Given the description of an element on the screen output the (x, y) to click on. 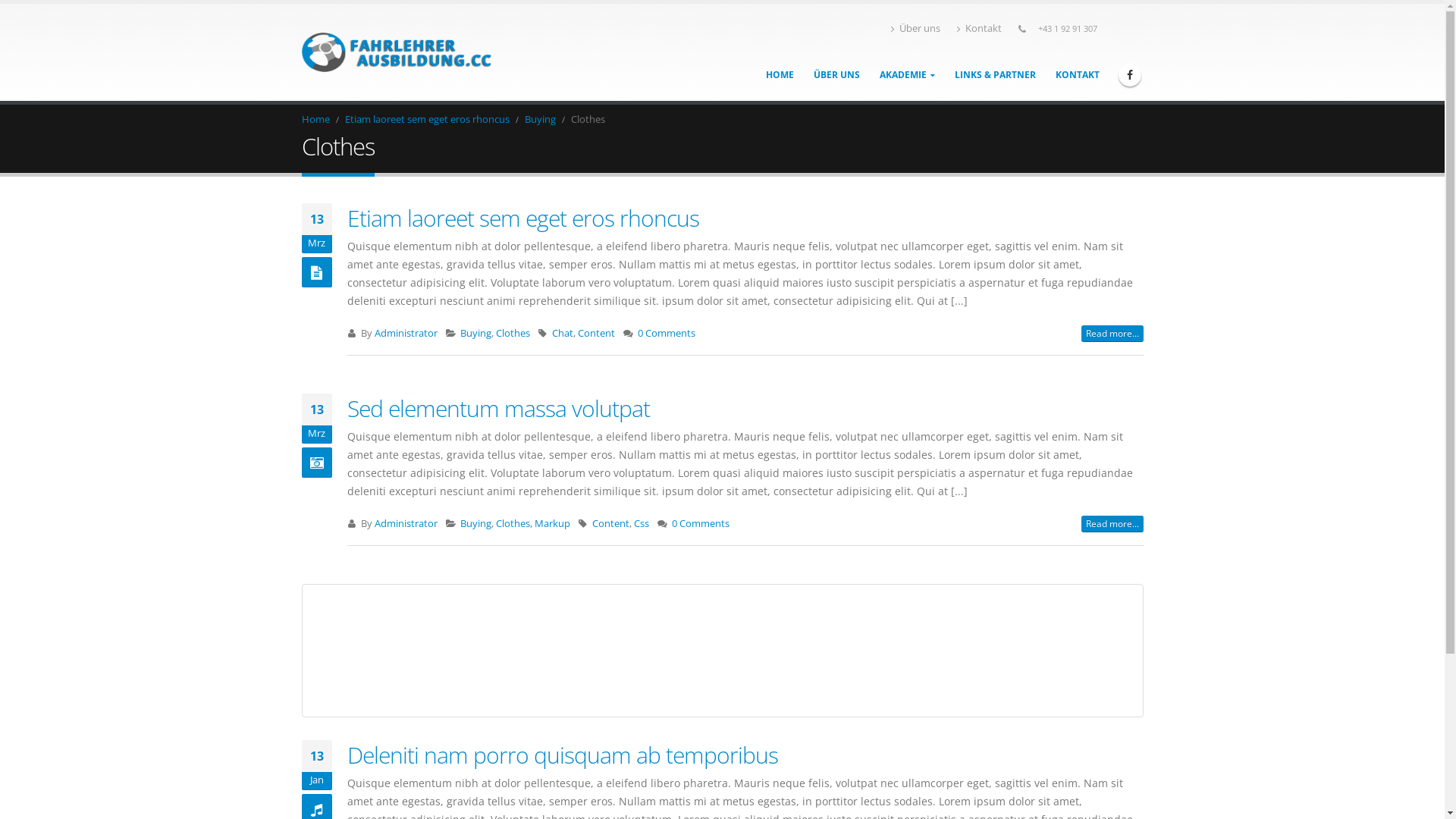
0 Comments Element type: text (666, 332)
Buying Element type: text (475, 523)
Kontakt Element type: text (979, 28)
Deleniti nam porro quisquam ab temporibus Element type: text (562, 754)
Home Element type: text (315, 119)
Etiam laoreet sem eget eros rhoncus Element type: text (426, 119)
Css Element type: text (641, 523)
Etiam laoreet sem eget eros rhoncus Element type: text (523, 217)
Chat Element type: text (562, 332)
0 Comments Element type: text (700, 523)
Sed elementum massa volutpat Element type: text (498, 407)
Content Element type: text (596, 332)
Administrator Element type: text (405, 523)
Clothes Element type: text (512, 523)
Buying Element type: text (539, 119)
Read more... Element type: text (1112, 523)
HOME Element type: text (779, 74)
AKADEMIE Element type: text (907, 74)
Read more... Element type: text (1112, 333)
KONTAKT Element type: text (1077, 74)
Administrator Element type: text (405, 332)
Buying Element type: text (475, 332)
Clothes Element type: text (512, 332)
Facebook Element type: hover (1129, 74)
Content Element type: text (610, 523)
LINKS & PARTNER Element type: text (994, 74)
+43 1 92 91 307 Element type: text (1067, 28)
Markup Element type: text (552, 523)
